Given the description of an element on the screen output the (x, y) to click on. 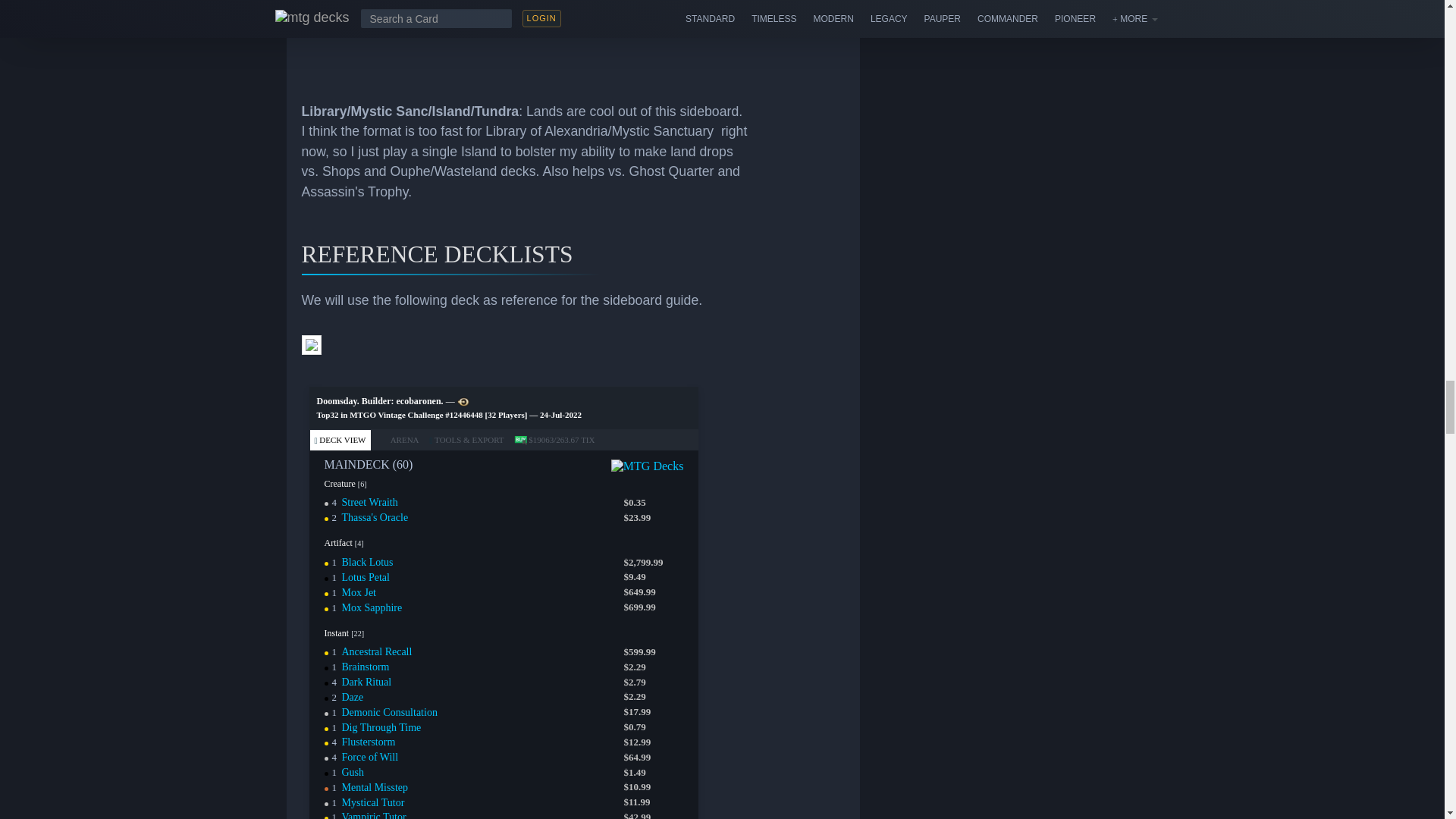
Street Wraith (368, 501)
Thassa's Oracle (373, 517)
DECK VIEW (338, 440)
MTGO - Magic Online (462, 401)
ARENA (397, 440)
